Given the description of an element on the screen output the (x, y) to click on. 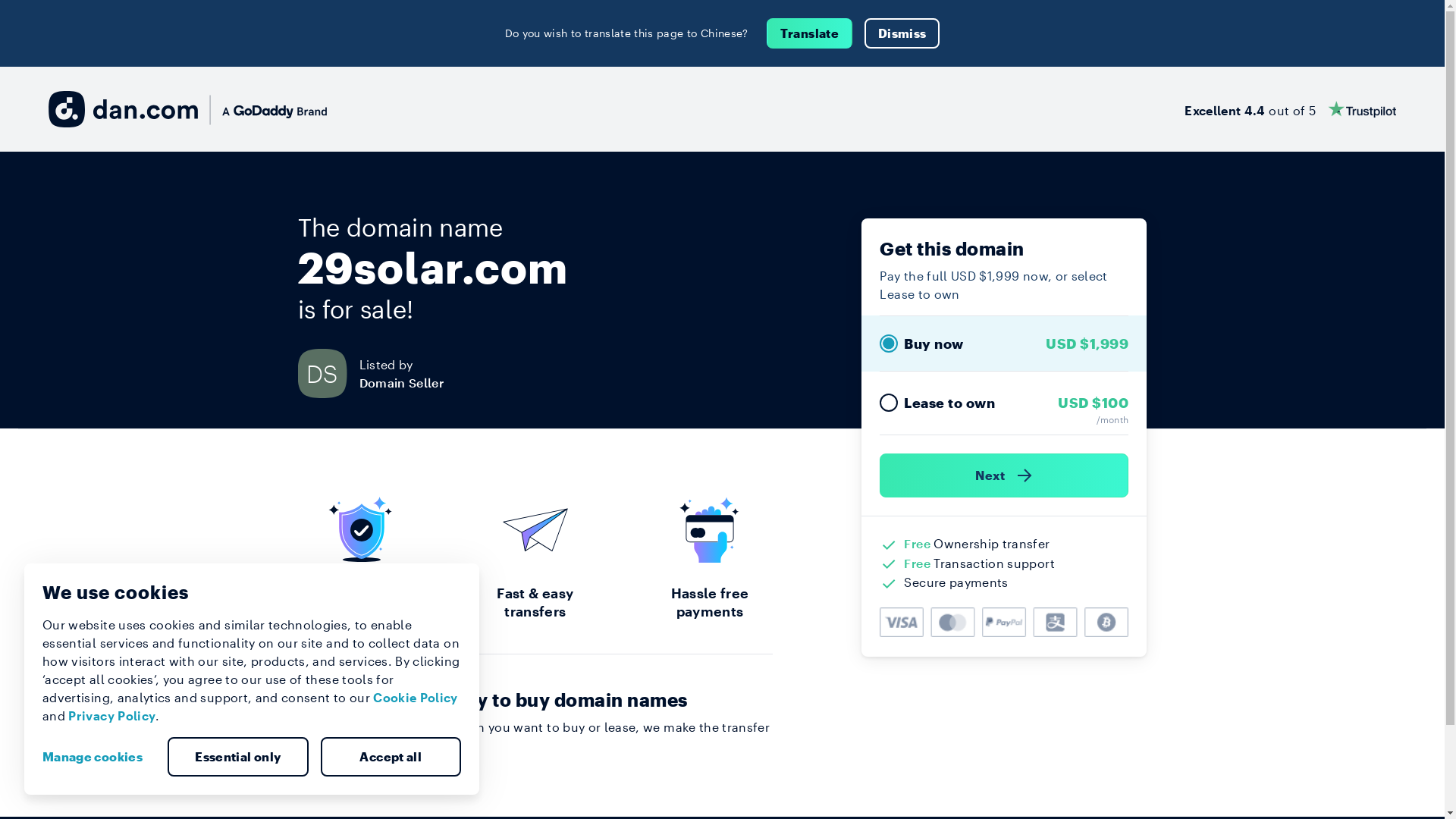
Excellent 4.4 out of 5 Element type: text (1290, 109)
Next
) Element type: text (1003, 475)
Manage cookies Element type: text (98, 756)
Dismiss Element type: text (901, 33)
Essential only Element type: text (237, 756)
Accept all Element type: text (390, 756)
Cookie Policy Element type: text (415, 697)
Privacy Policy Element type: text (111, 715)
Translate Element type: text (809, 33)
